Given the description of an element on the screen output the (x, y) to click on. 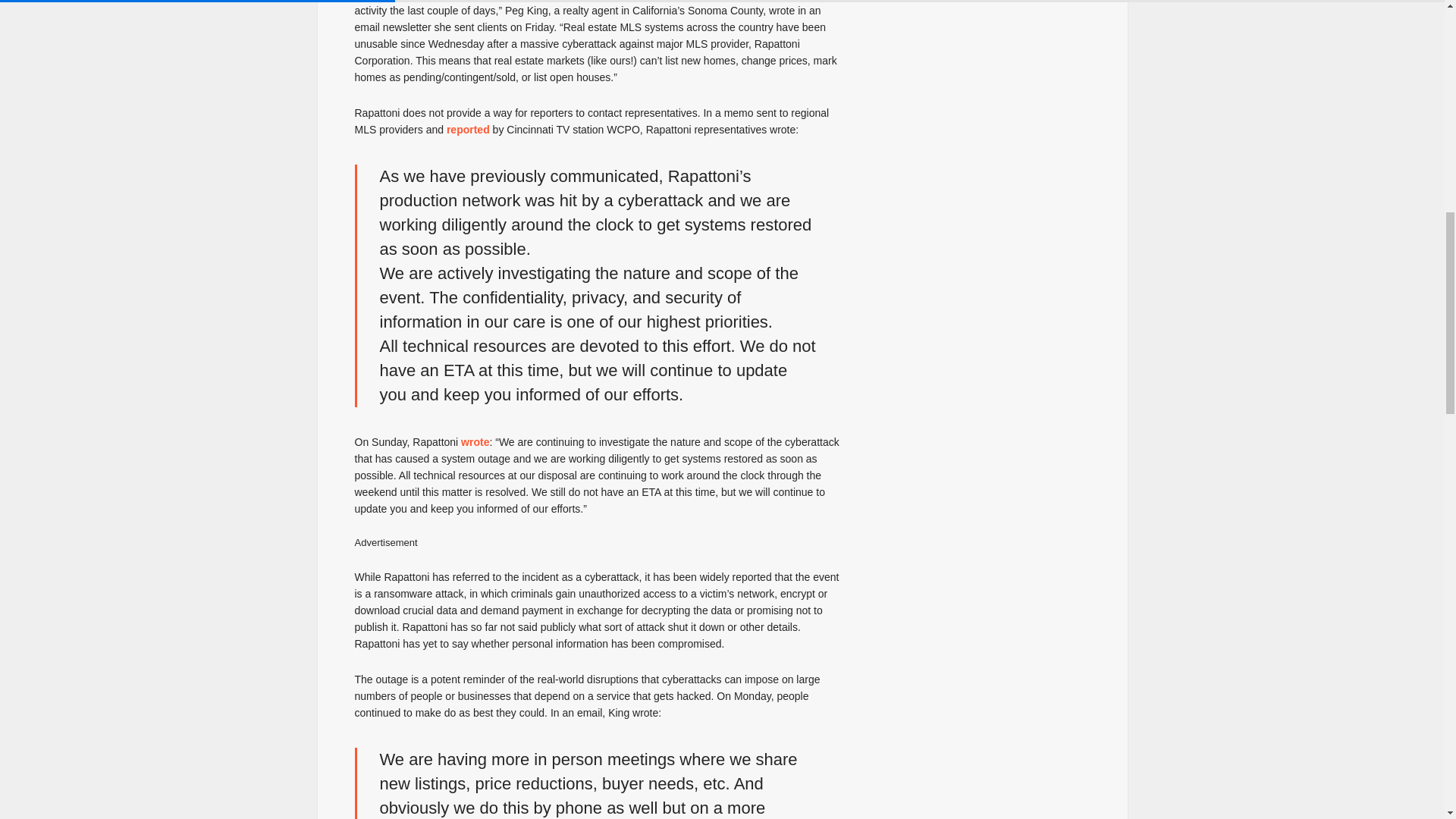
reported (467, 129)
wrote (475, 441)
